Given the description of an element on the screen output the (x, y) to click on. 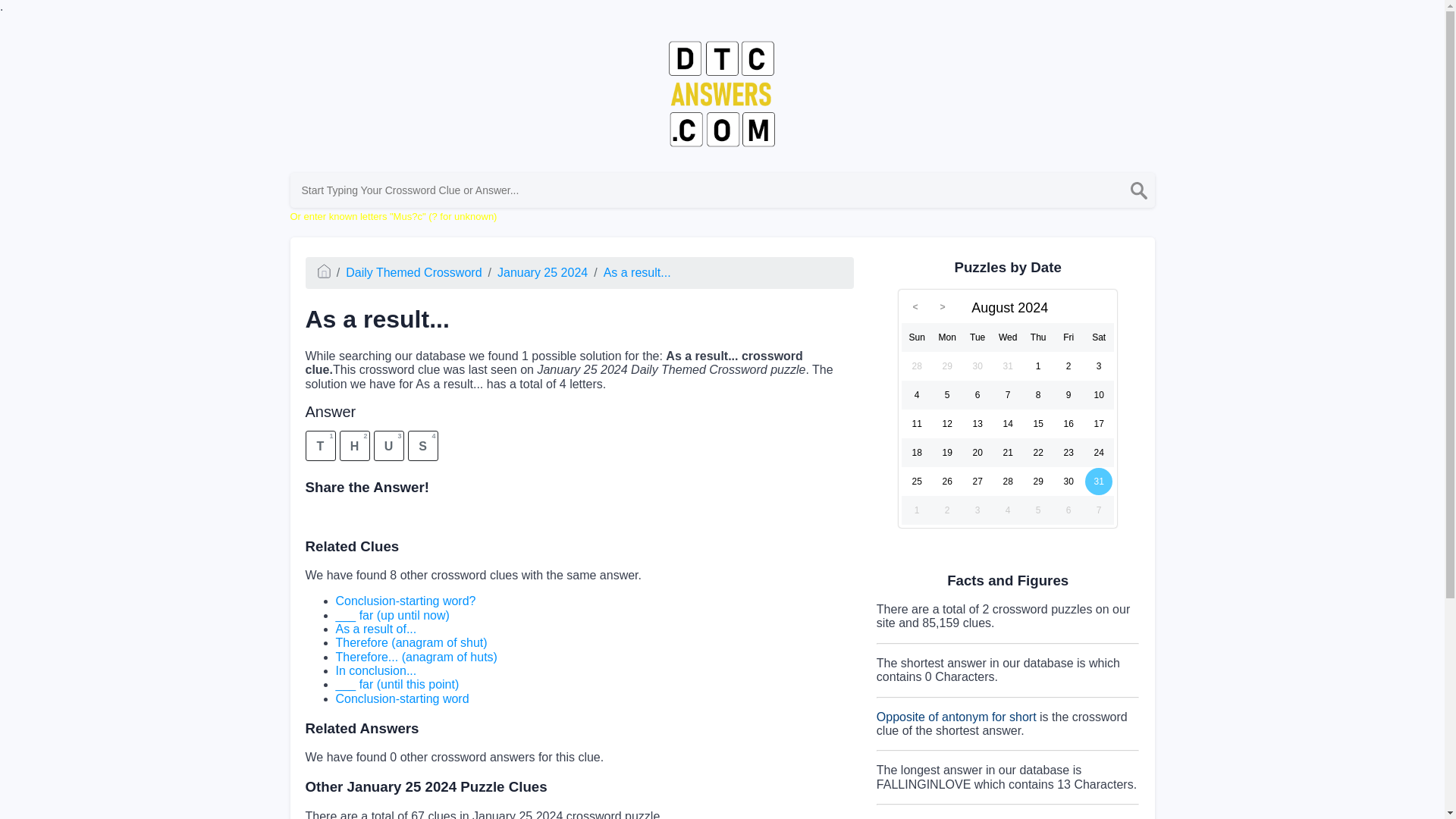
As a result of... (375, 628)
As a result... (637, 272)
Conclusion-starting word? (405, 600)
Daily Themed Crossword (413, 272)
Opposite of antonym for short (956, 716)
In conclusion... (375, 670)
January 25 2024 (542, 272)
Conclusion-starting word (401, 698)
